Given the description of an element on the screen output the (x, y) to click on. 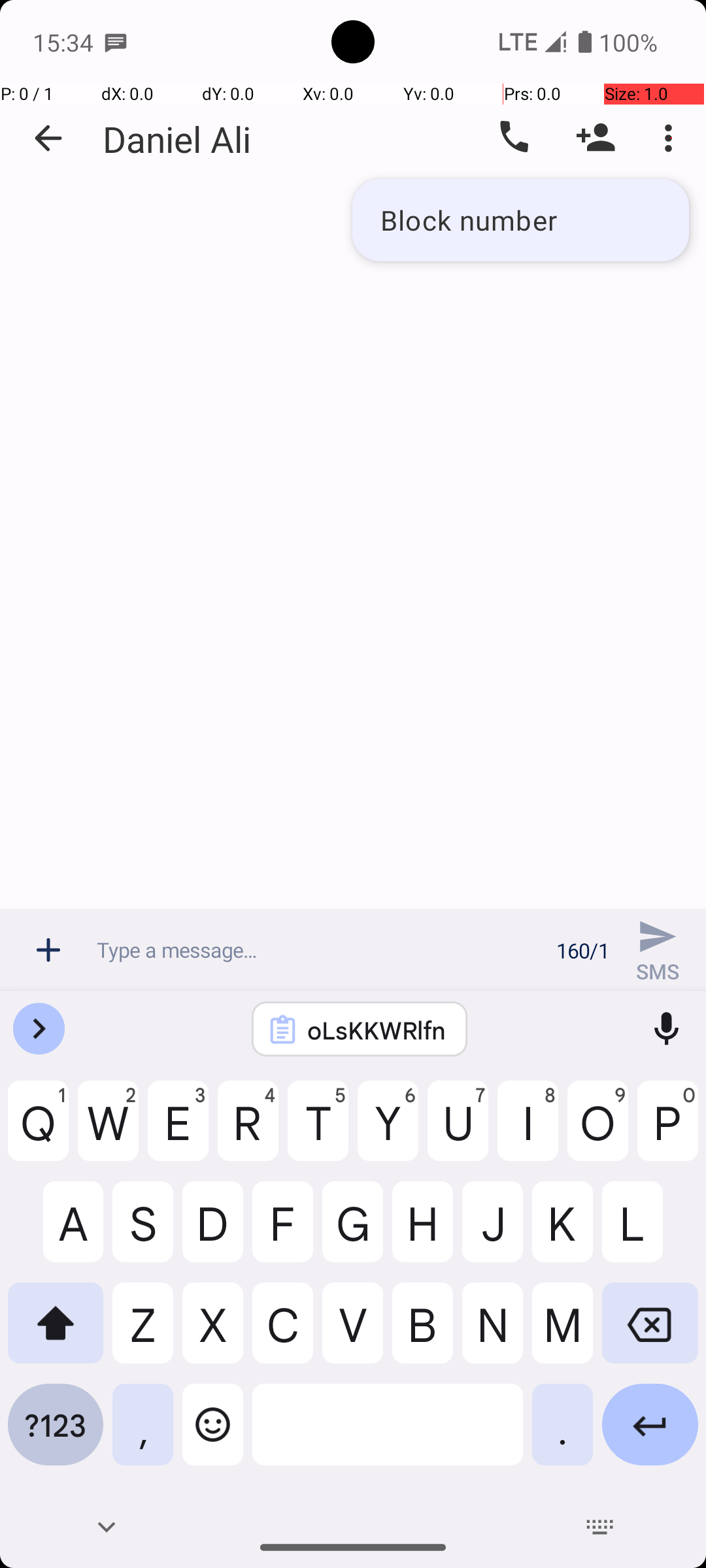
Block number Element type: android.widget.TextView (520, 219)
SMS Messenger notification: Isla da Silva Element type: android.widget.ImageView (115, 41)
